Given the description of an element on the screen output the (x, y) to click on. 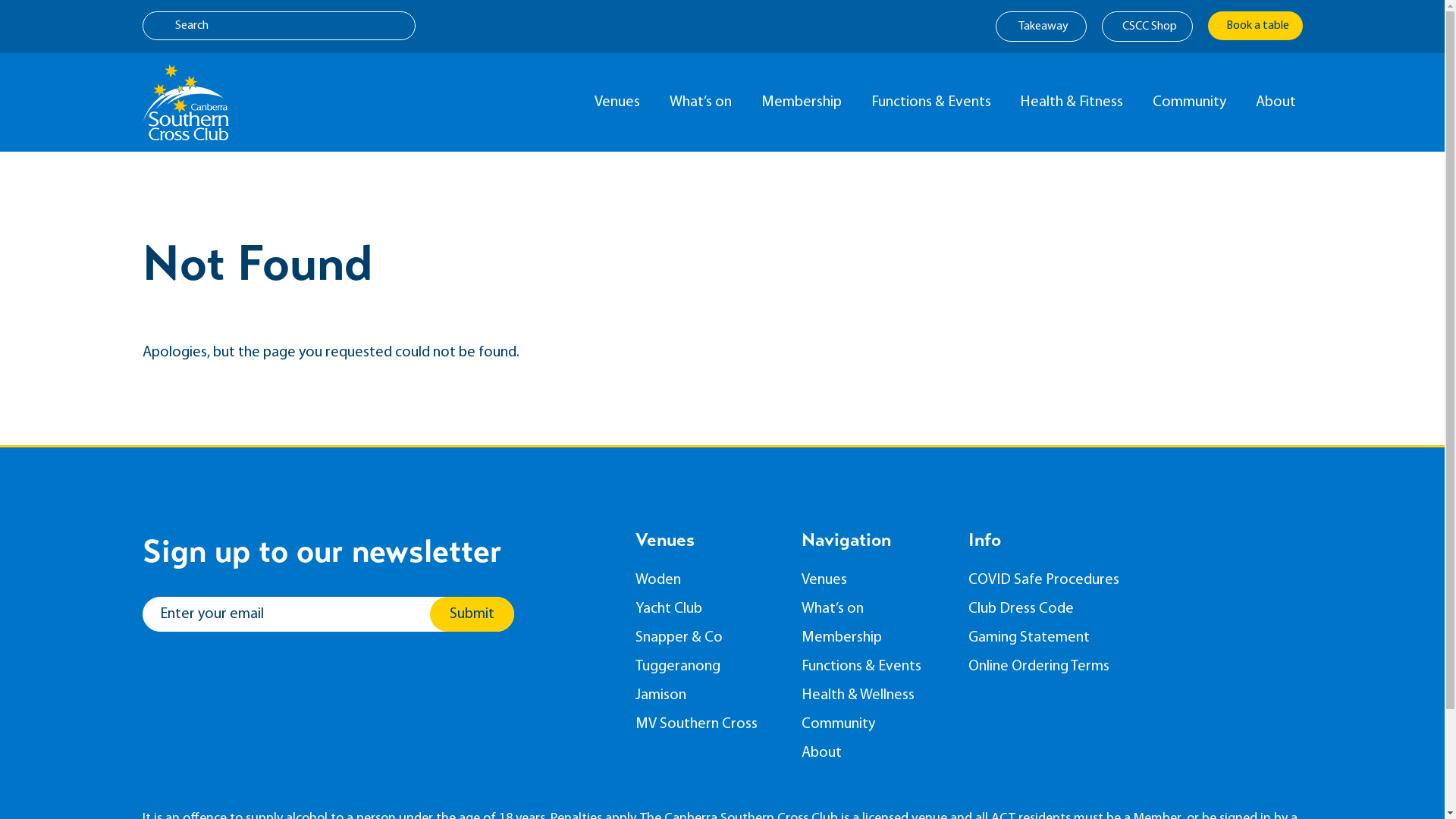
About Element type: text (1278, 102)
Membership Element type: text (804, 102)
Health & Fitness Element type: text (1074, 102)
Venues Element type: text (873, 579)
About Element type: text (873, 752)
Membership Element type: text (873, 637)
Tuggeranong Element type: text (707, 666)
Search Element type: hover (278, 25)
MV Southern Cross Element type: text (707, 723)
Health & Wellness Element type: text (873, 695)
Jamison Element type: text (707, 695)
Functions & Events Element type: text (873, 666)
Functions & Events Element type: text (933, 102)
Submit Element type: text (471, 613)
Club Dress Code Element type: text (1051, 608)
Community Element type: text (873, 723)
Snapper & Co Element type: text (707, 637)
Book a table Element type: text (1254, 25)
Venues Element type: text (620, 102)
Gaming Statement Element type: text (1051, 637)
COVID Safe Procedures Element type: text (1051, 579)
Yacht Club Element type: text (707, 608)
CSCC Shop Element type: text (1146, 26)
Canberra Southern Cross Club Element type: text (185, 102)
Woden Element type: text (707, 579)
Takeaway Element type: text (1039, 26)
Online Ordering Terms Element type: text (1051, 666)
Community Element type: text (1192, 102)
